Given the description of an element on the screen output the (x, y) to click on. 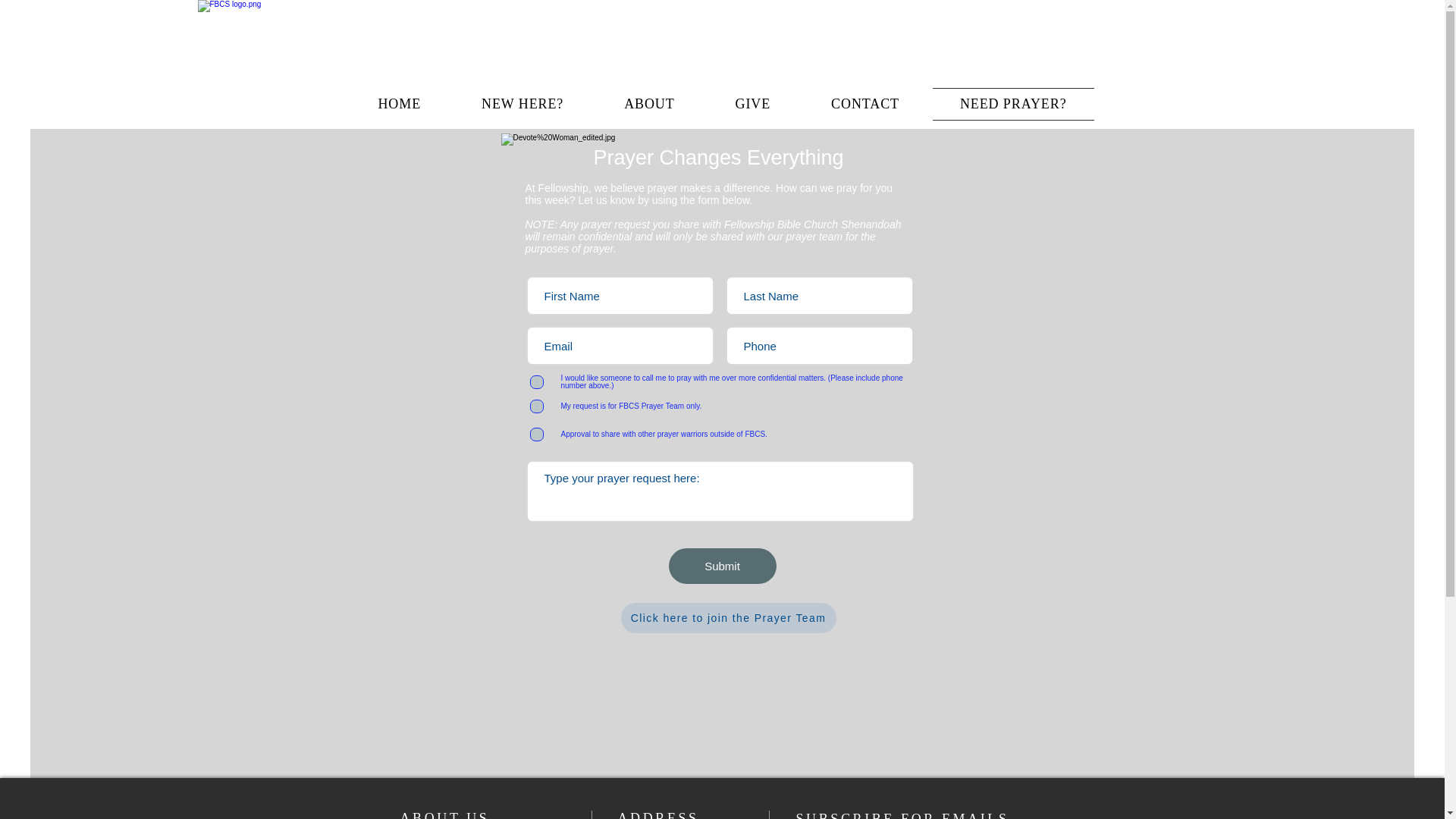
ABOUT (648, 103)
HOME (399, 103)
Submit (722, 565)
GIVE (752, 103)
NEED PRAYER? (1013, 103)
NEW HERE? (522, 103)
CONTACT (864, 103)
Click here to join the Prayer Team (727, 617)
